Given the description of an element on the screen output the (x, y) to click on. 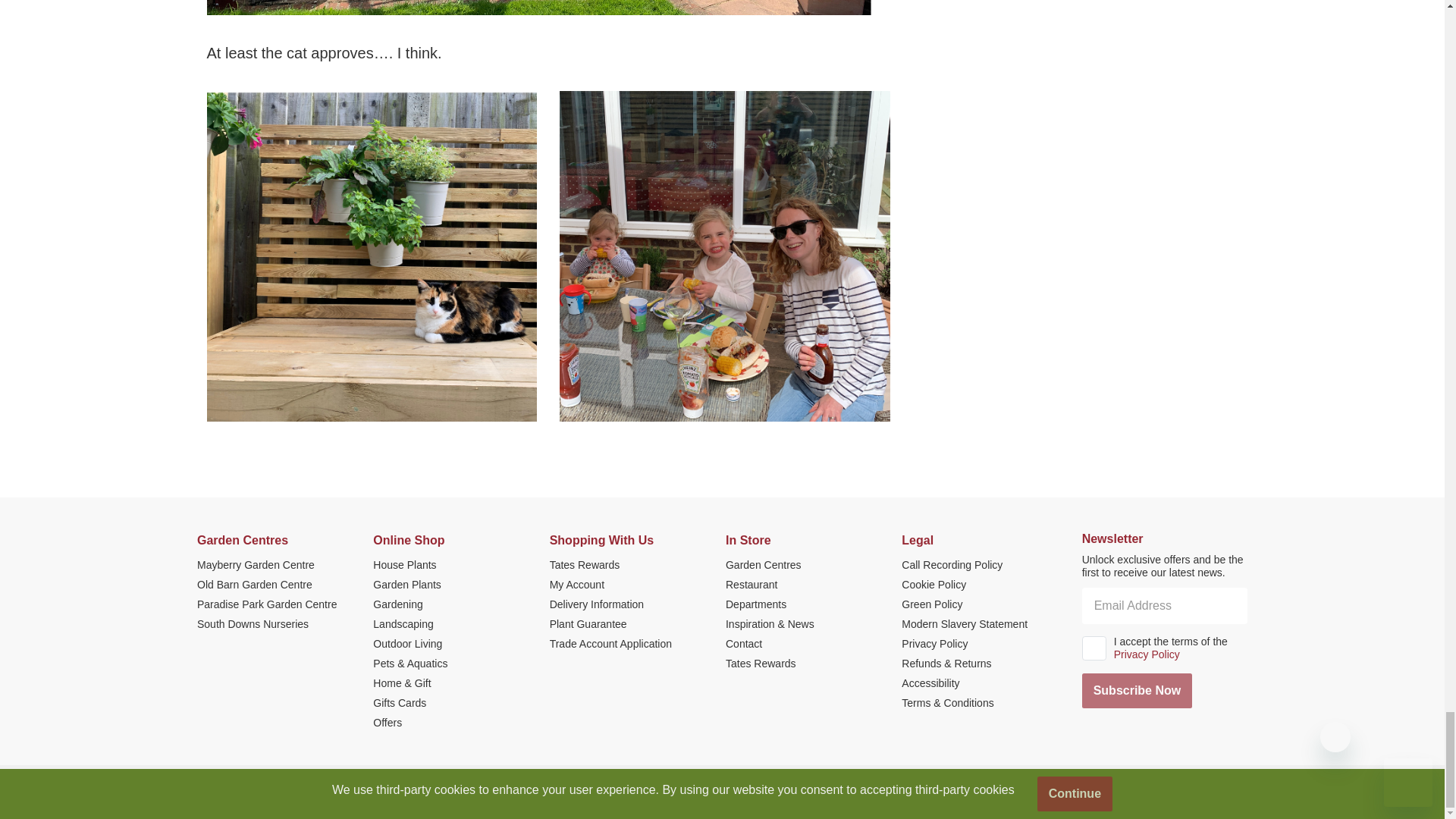
Our outdoor living space is complete (538, 7)
